Given the description of an element on the screen output the (x, y) to click on. 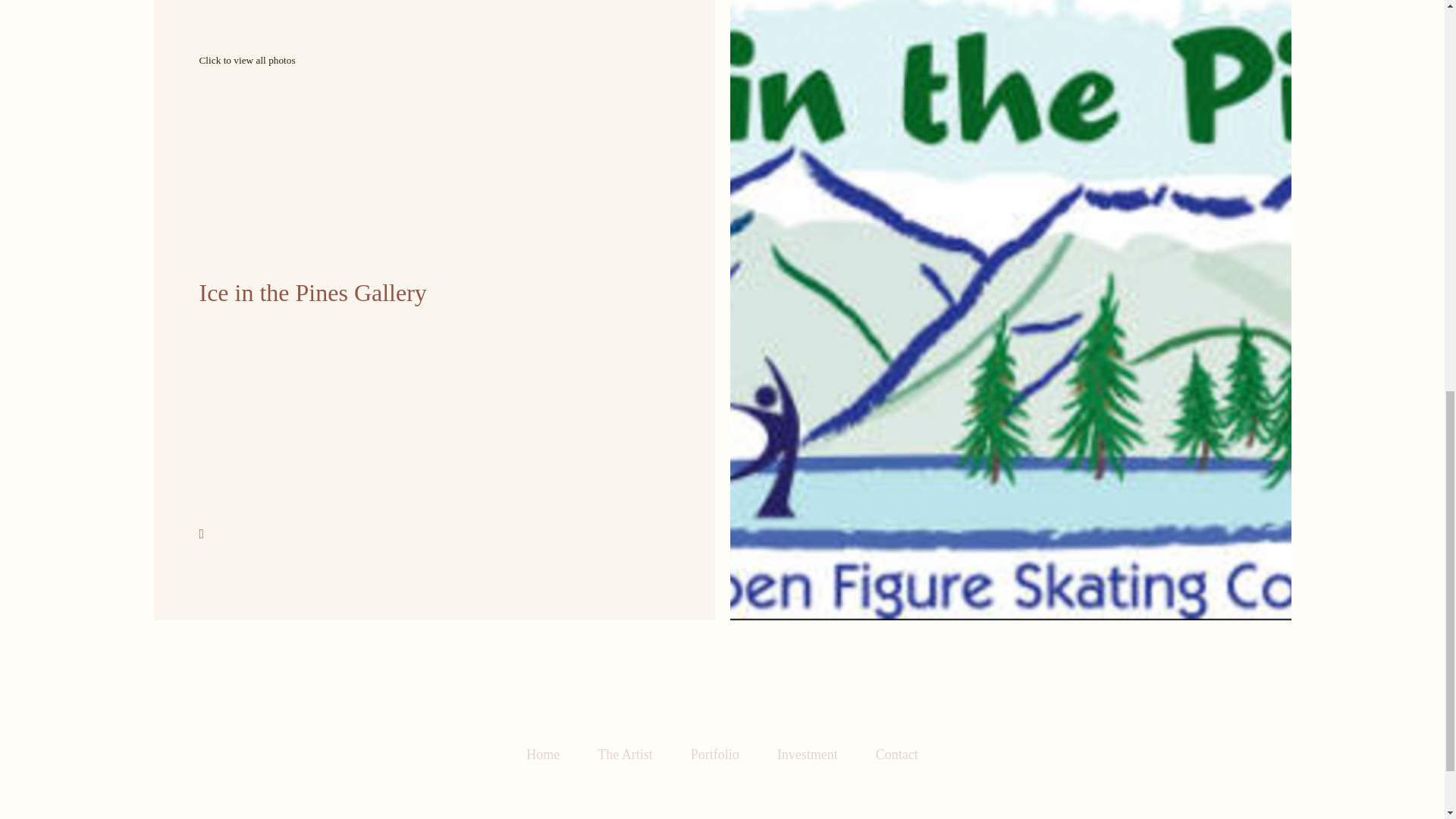
Portfolio (714, 755)
Home (624, 755)
